Given the description of an element on the screen output the (x, y) to click on. 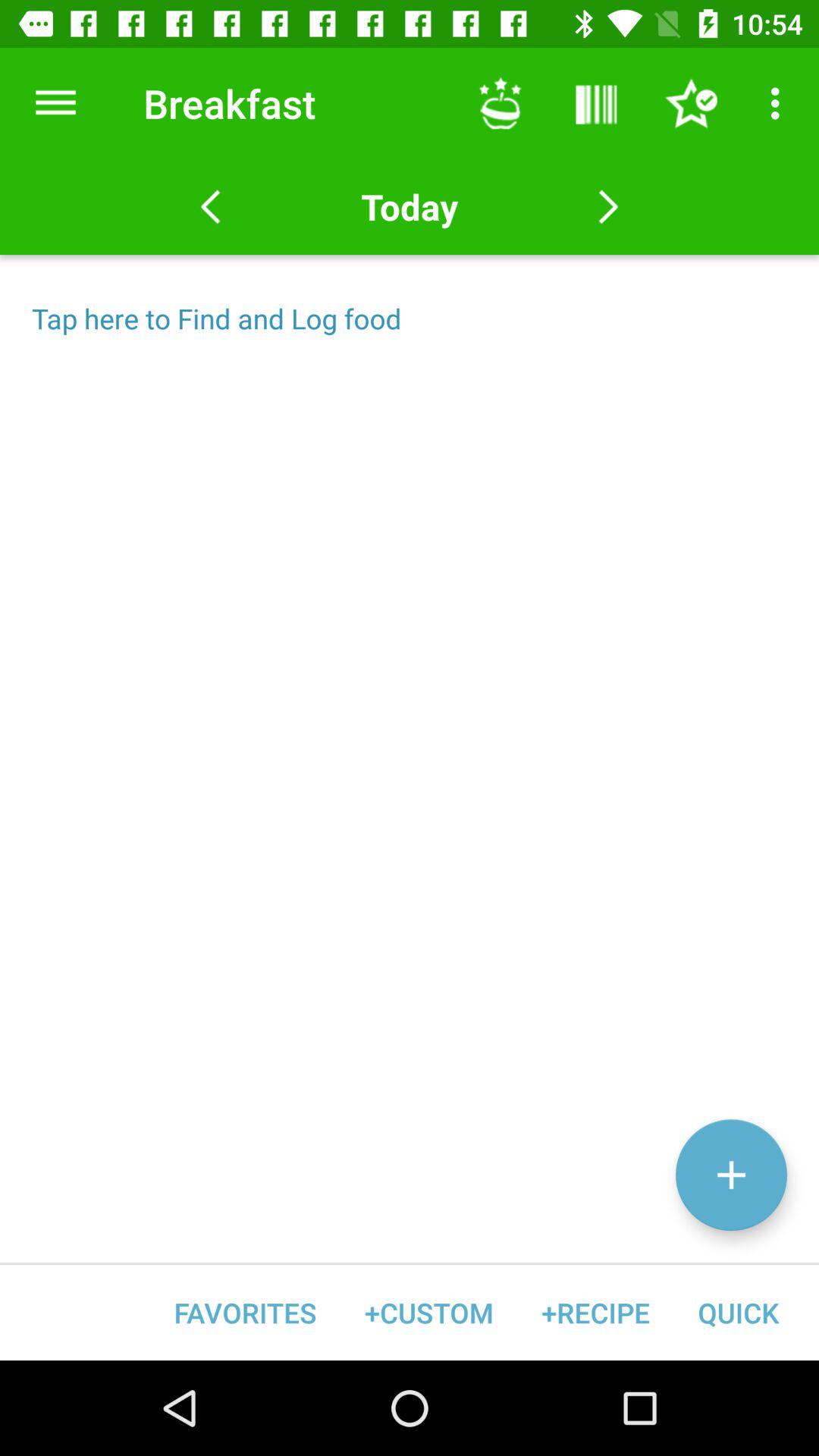
open the +custom (428, 1312)
